Given the description of an element on the screen output the (x, y) to click on. 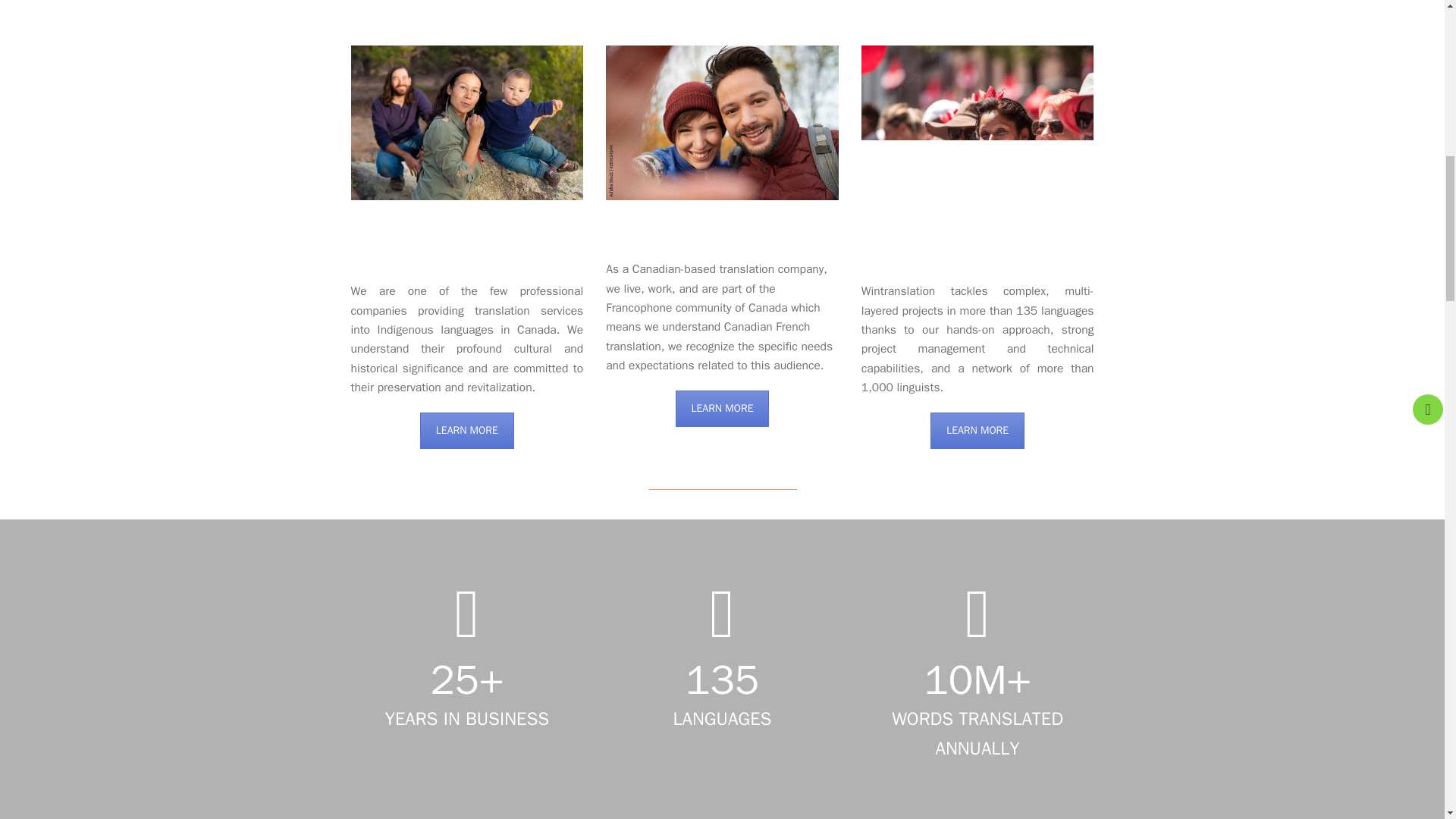
LEARN MORE (721, 408)
international translation services (977, 122)
canadian french translation (721, 122)
Canadian French Translation Services (721, 408)
LEARN MORE (466, 430)
LEARN MORE (977, 430)
indigenous language translations (466, 430)
